Given the description of an element on the screen output the (x, y) to click on. 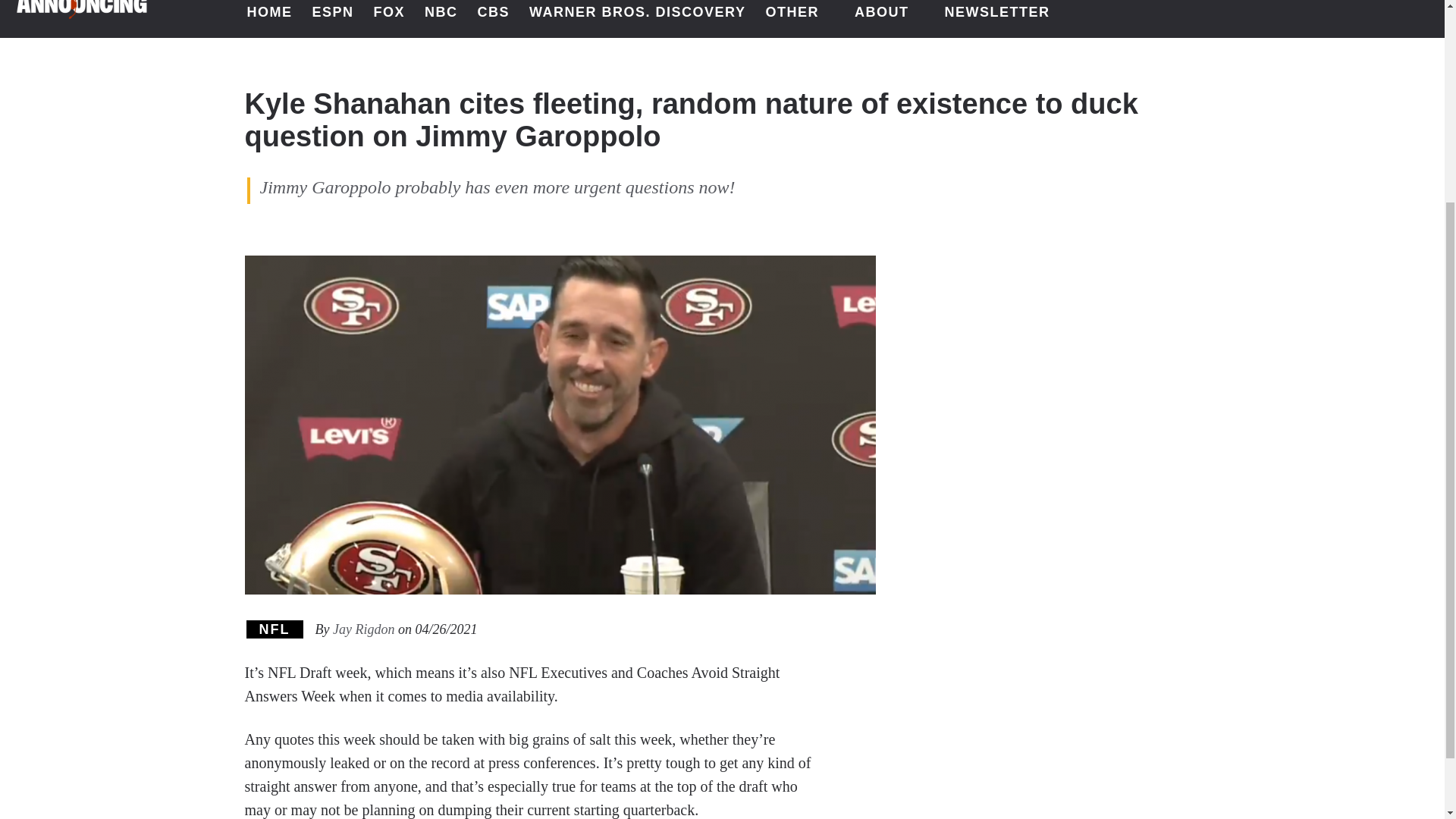
NEWSLETTER (996, 18)
ESPN (332, 18)
ABOUT (889, 18)
Link to Facebook (1336, 13)
View all posts in NFL (274, 629)
HOME (269, 18)
CBS (493, 18)
Link to RSS (1414, 13)
NBC (441, 18)
OTHER (799, 18)
